Given the description of an element on the screen output the (x, y) to click on. 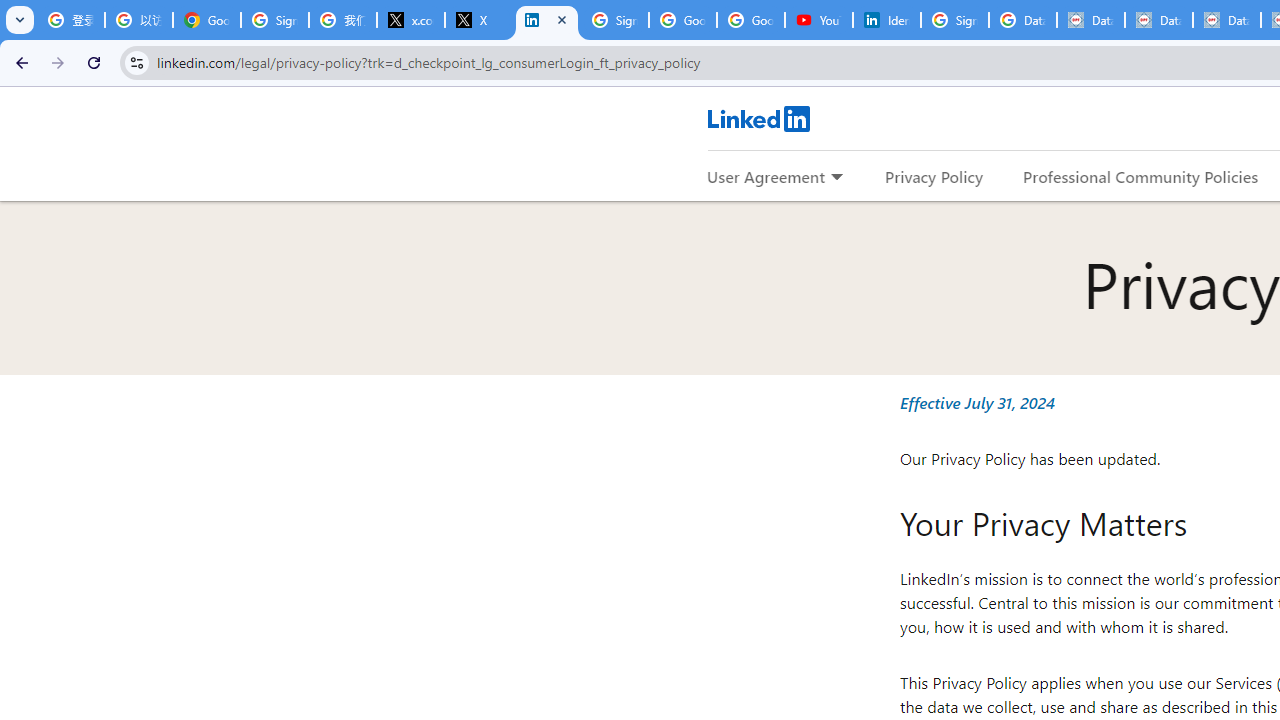
User Agreement (765, 176)
Privacy Policy (934, 176)
X (479, 20)
Effective July 31, 2024 (976, 402)
Data Privacy Framework (1091, 20)
Sign in - Google Accounts (954, 20)
LinkedIn Privacy Policy (547, 20)
